Given the description of an element on the screen output the (x, y) to click on. 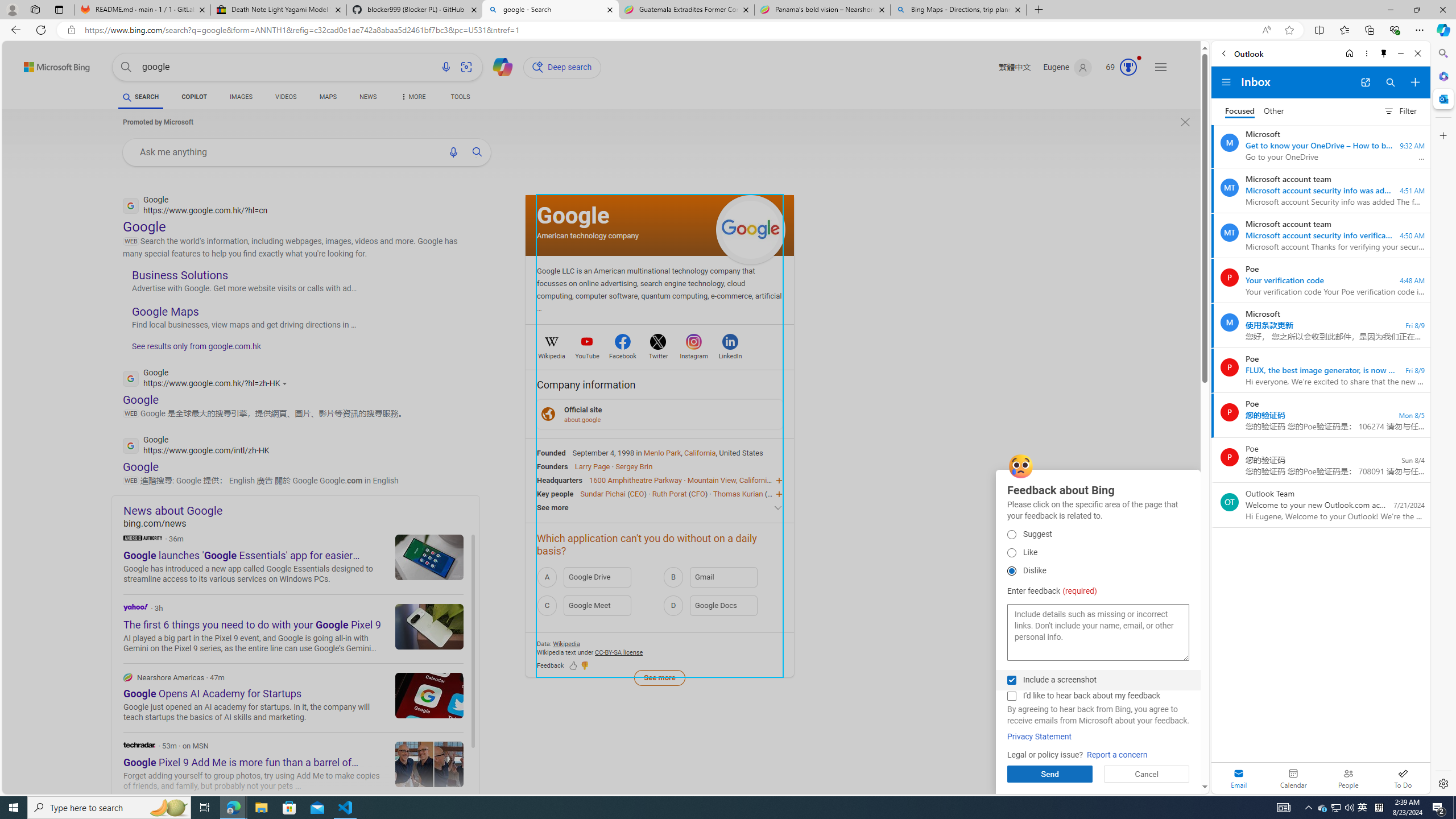
Filter (1399, 110)
Focused Inbox, toggle to go to Other Inbox (1254, 110)
